Given the description of an element on the screen output the (x, y) to click on. 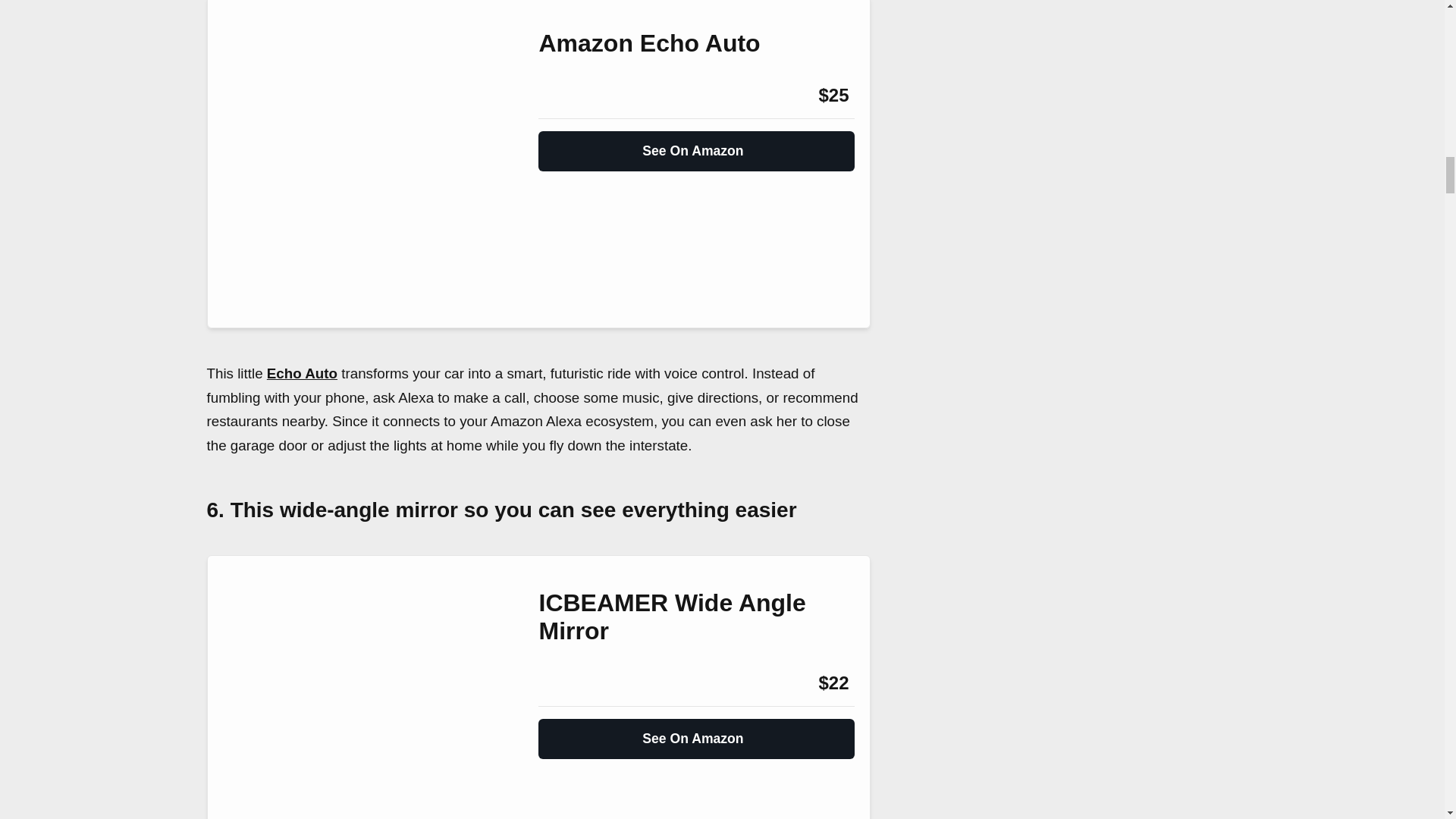
Echo Auto (301, 373)
See On Amazon (696, 732)
Amazon (579, 95)
Amazon (579, 683)
See On Amazon (696, 144)
